Given the description of an element on the screen output the (x, y) to click on. 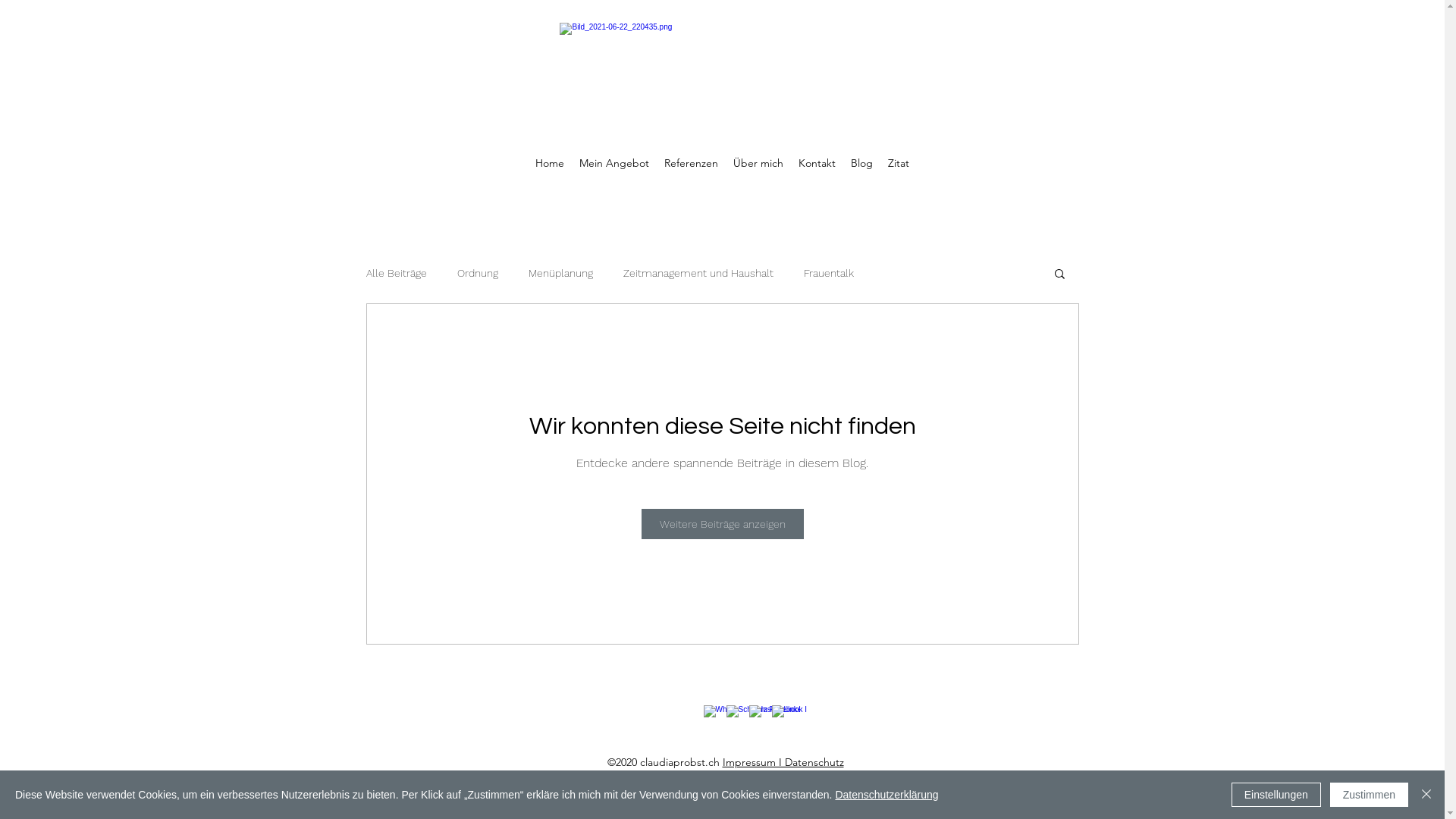
Impressum I Datenschutz Element type: text (782, 761)
Blog Element type: text (861, 162)
Mein Angebot Element type: text (613, 162)
Ordnung Element type: text (476, 272)
Kontakt Element type: text (816, 162)
Frauentalk Element type: text (828, 272)
Zustimmen Element type: text (1369, 794)
Einstellungen Element type: text (1276, 794)
Referenzen Element type: text (690, 162)
Home Element type: text (549, 162)
Zeitmanagement und Haushalt Element type: text (698, 272)
Zitat Element type: text (898, 162)
